Given the description of an element on the screen output the (x, y) to click on. 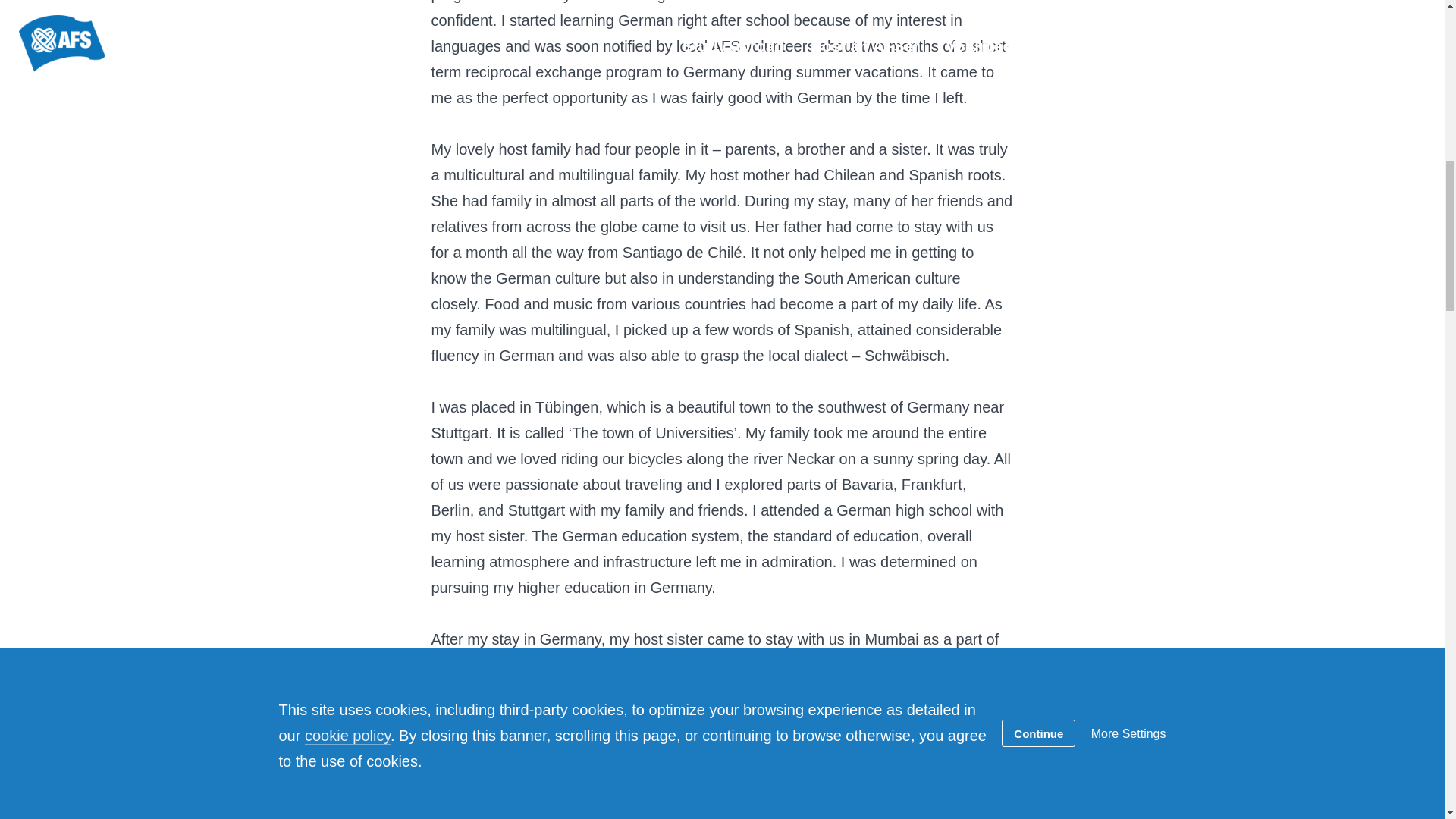
on (283, 503)
on (283, 523)
on (283, 483)
